Given the description of an element on the screen output the (x, y) to click on. 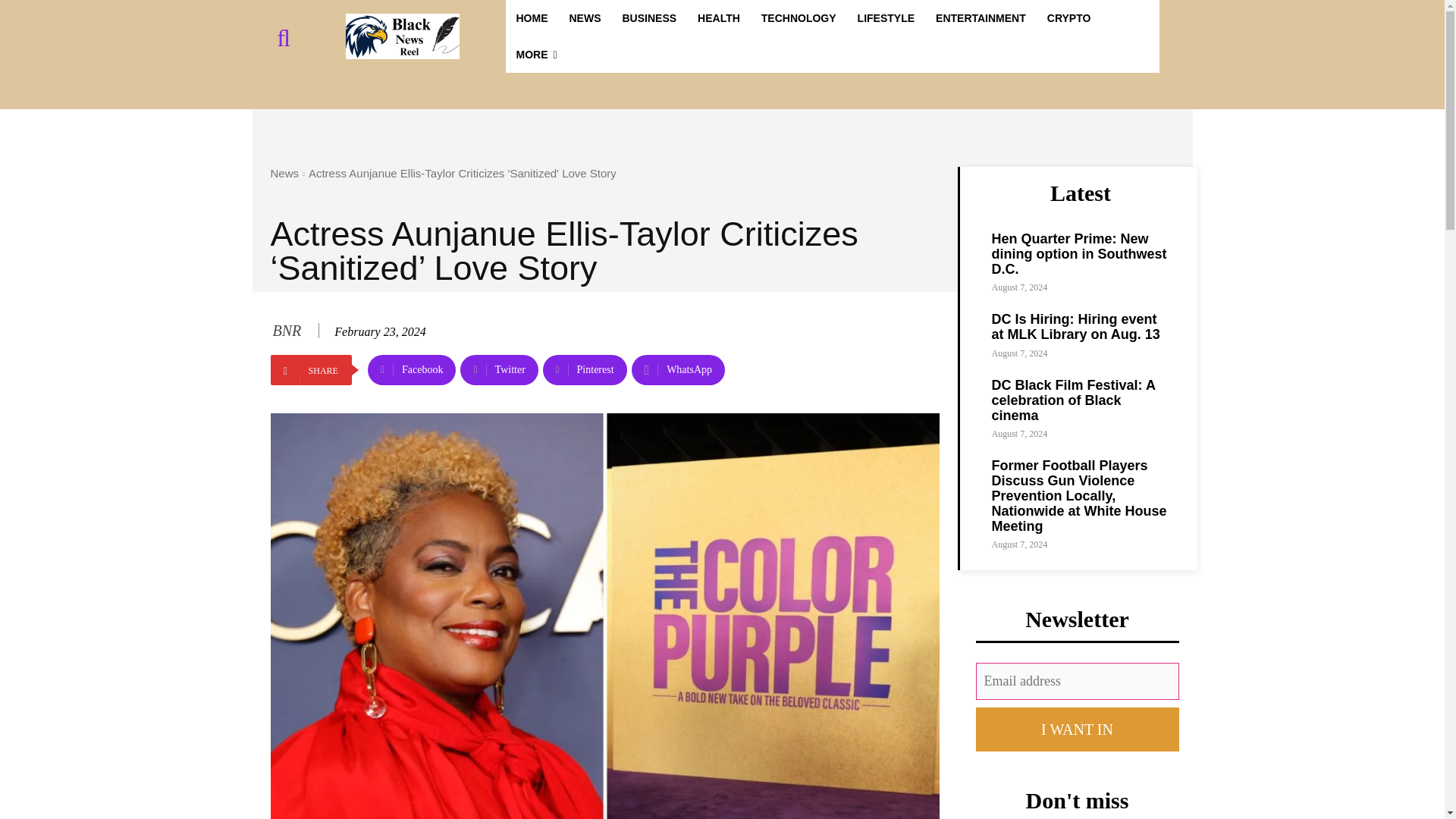
HOME (531, 18)
NEWS (584, 18)
BUSINESS (649, 18)
HEALTH (719, 18)
LIFESTYLE (885, 18)
Pinterest (585, 369)
ENTERTAINMENT (980, 18)
Facebook (412, 369)
TECHNOLOGY (799, 18)
Twitter (498, 369)
CRYPTO (1069, 18)
WhatsApp (678, 369)
View all posts in News (283, 173)
